Given the description of an element on the screen output the (x, y) to click on. 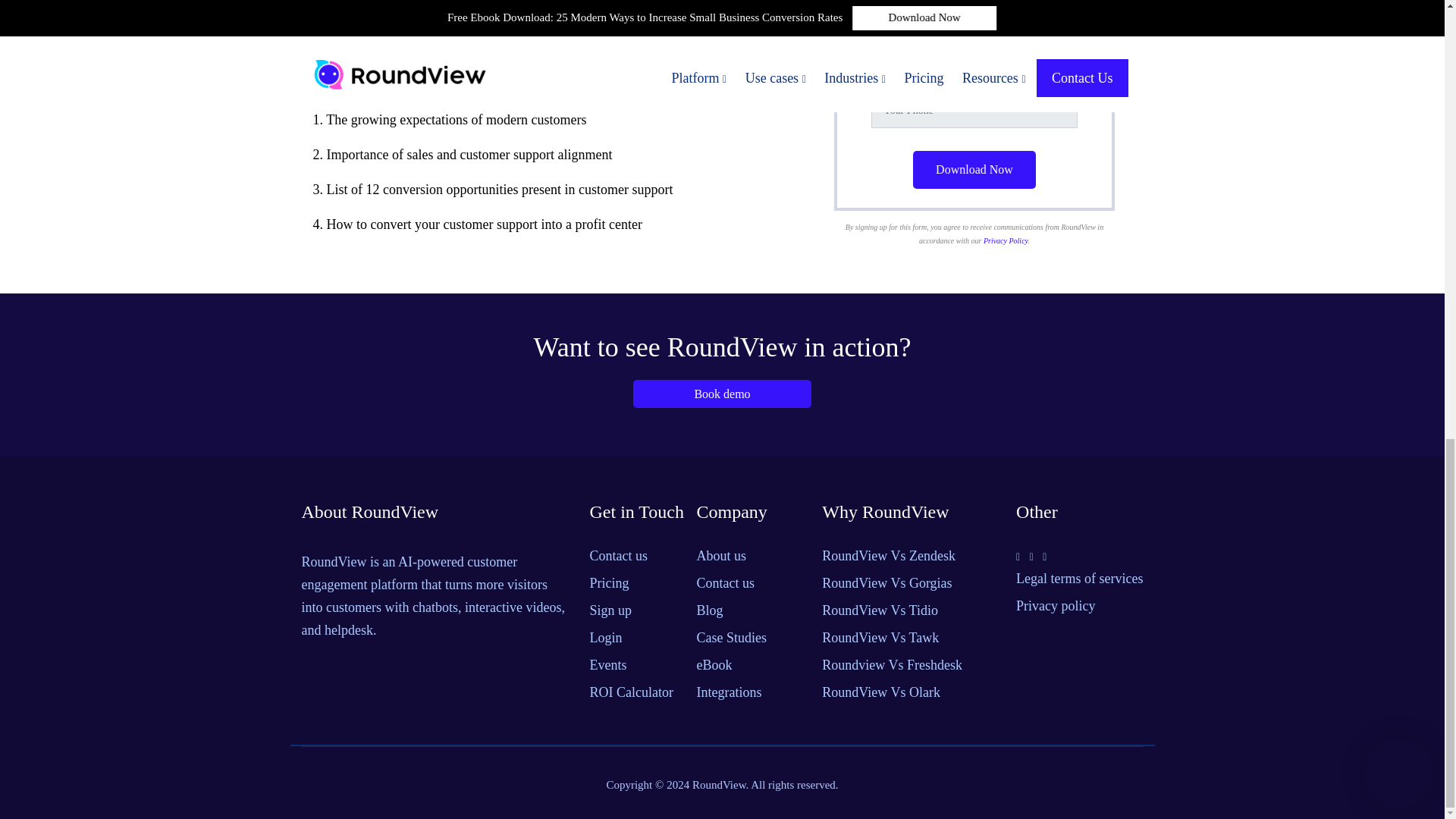
ROI Calculator (636, 694)
About us (753, 557)
Sign up (636, 612)
Pricing (636, 584)
Login (636, 639)
Events (636, 666)
Contact us (753, 584)
Contact us (636, 557)
Book demo (721, 393)
